Given the description of an element on the screen output the (x, y) to click on. 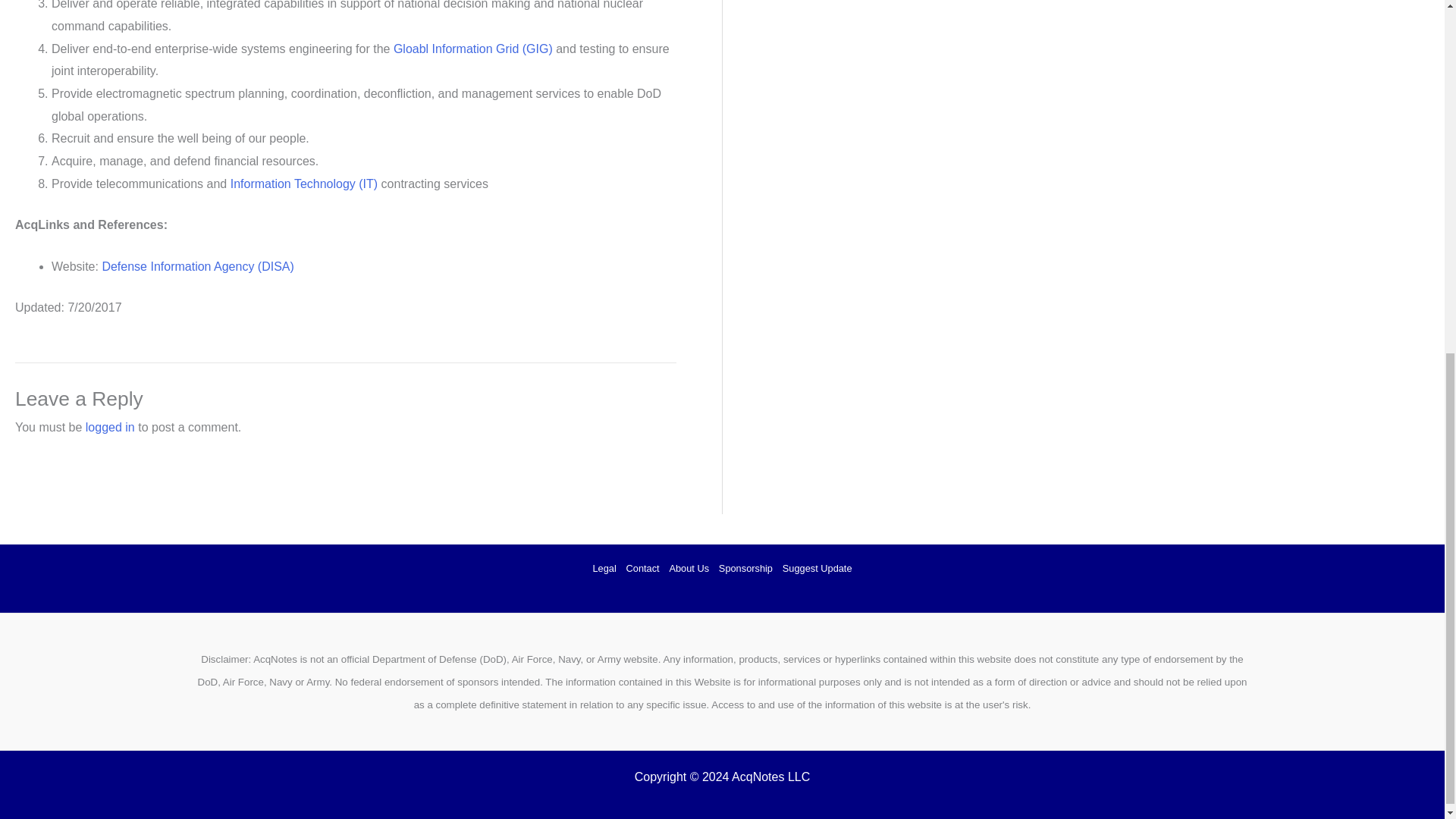
About Us (688, 568)
Legal (606, 568)
Suggest Update (814, 568)
Contact (642, 568)
Sponsorship (745, 568)
logged in (110, 427)
